Given the description of an element on the screen output the (x, y) to click on. 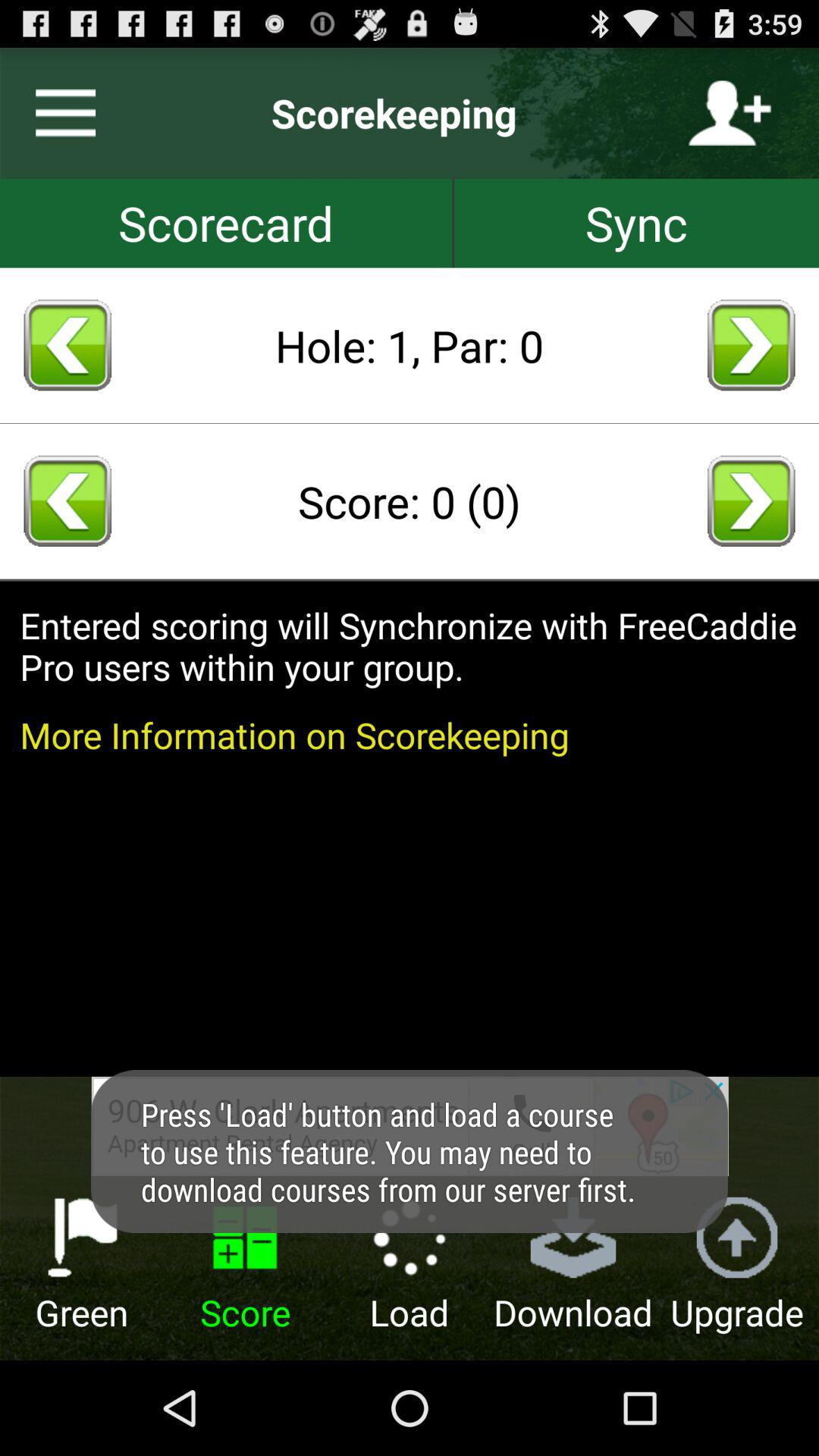
decrease score (67, 500)
